Given the description of an element on the screen output the (x, y) to click on. 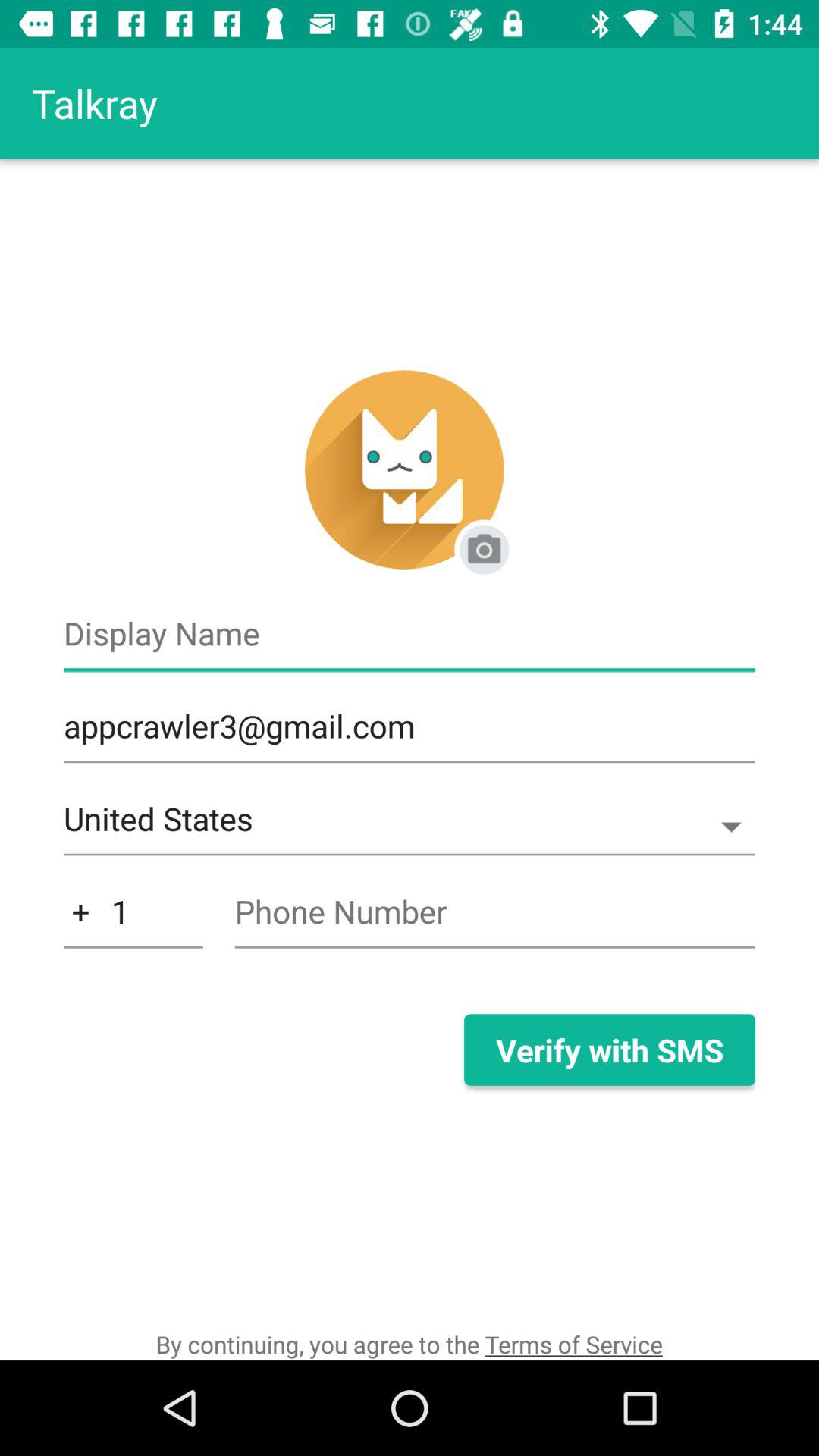
turn on icon below appcrawler3@gmail.com icon (409, 826)
